Given the description of an element on the screen output the (x, y) to click on. 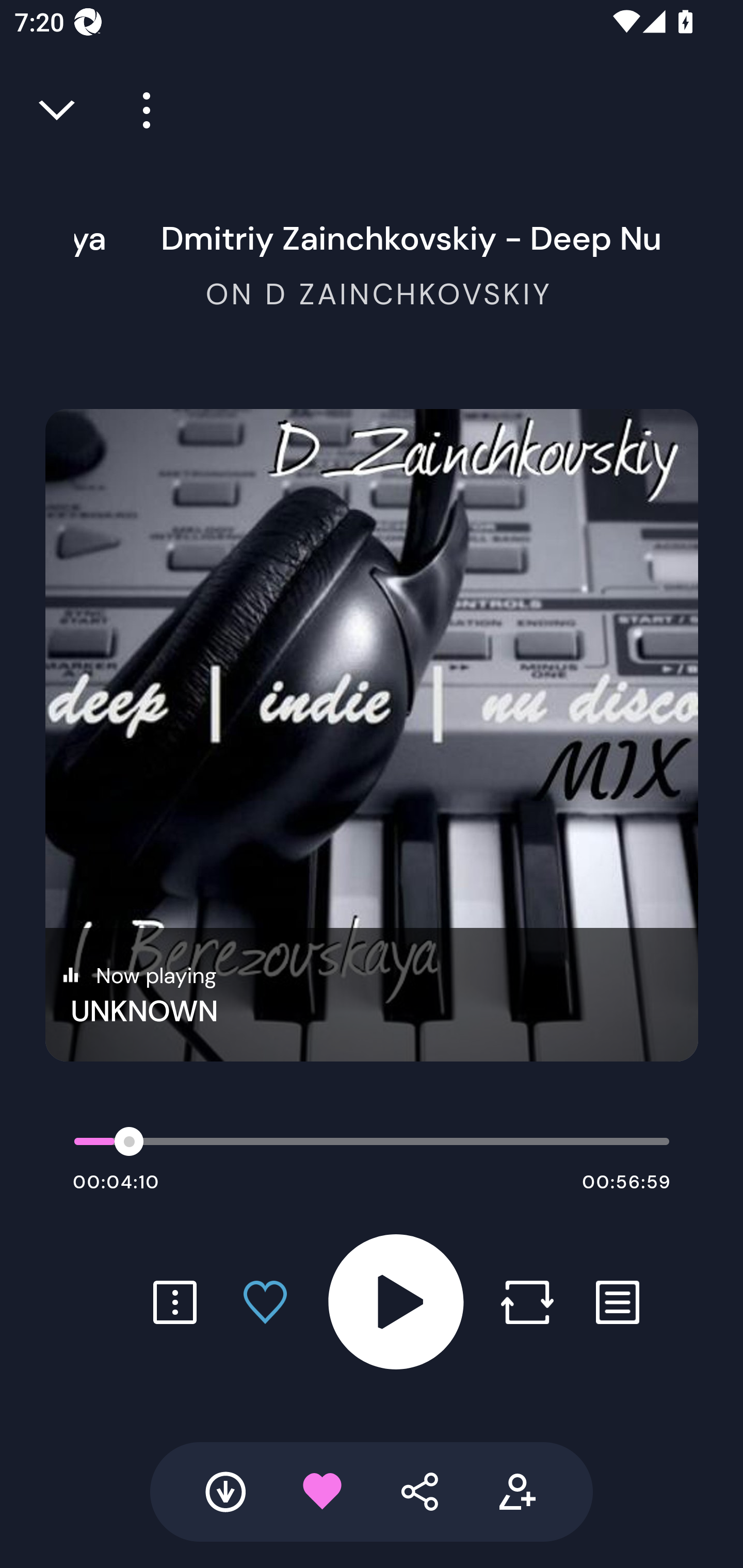
Close full player (58, 110)
Player more options button (139, 110)
Repost button (527, 1301)
